Given the description of an element on the screen output the (x, y) to click on. 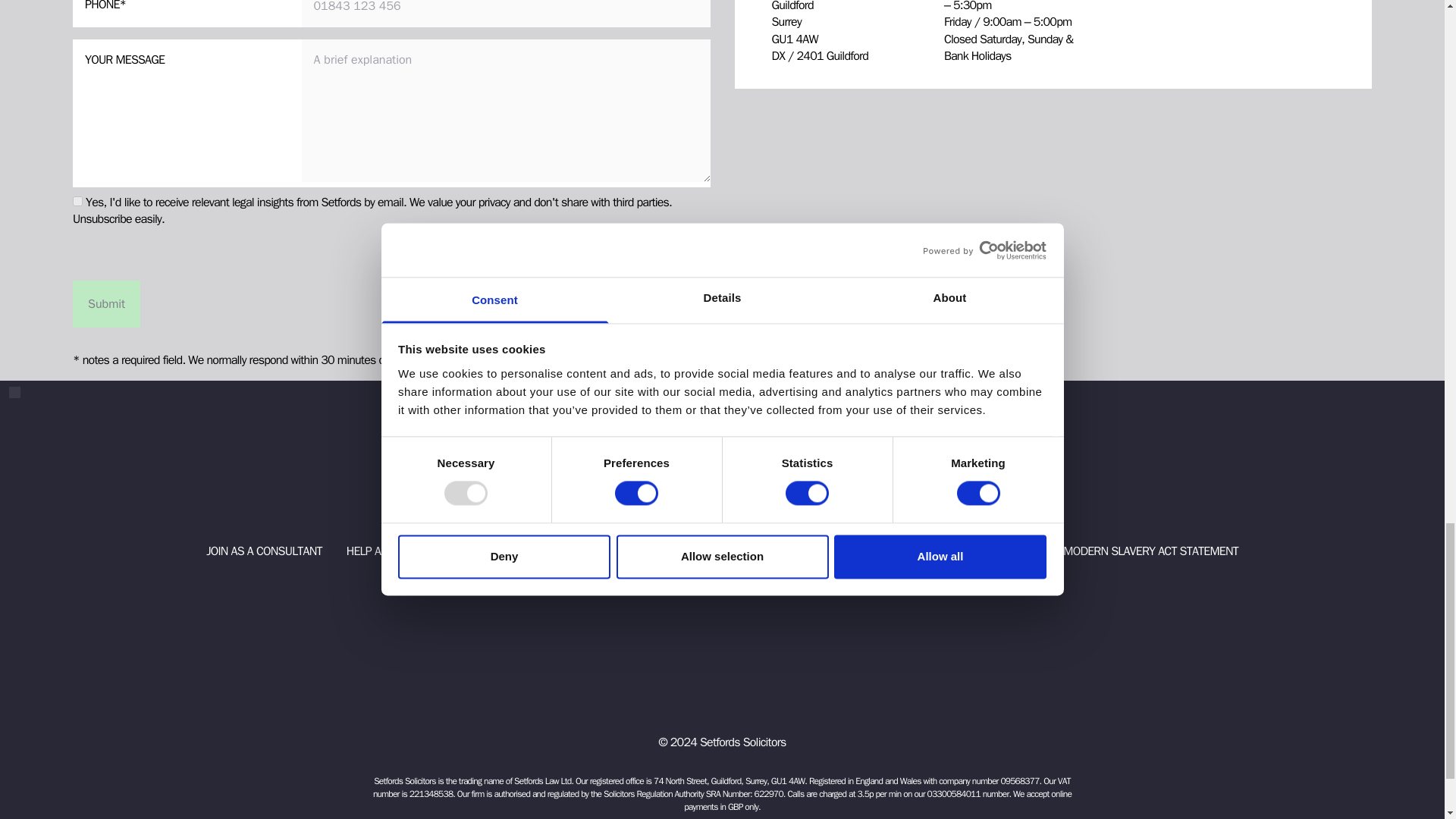
Submit (105, 303)
JOIN AS A CONSULTANT (263, 550)
